Given the description of an element on the screen output the (x, y) to click on. 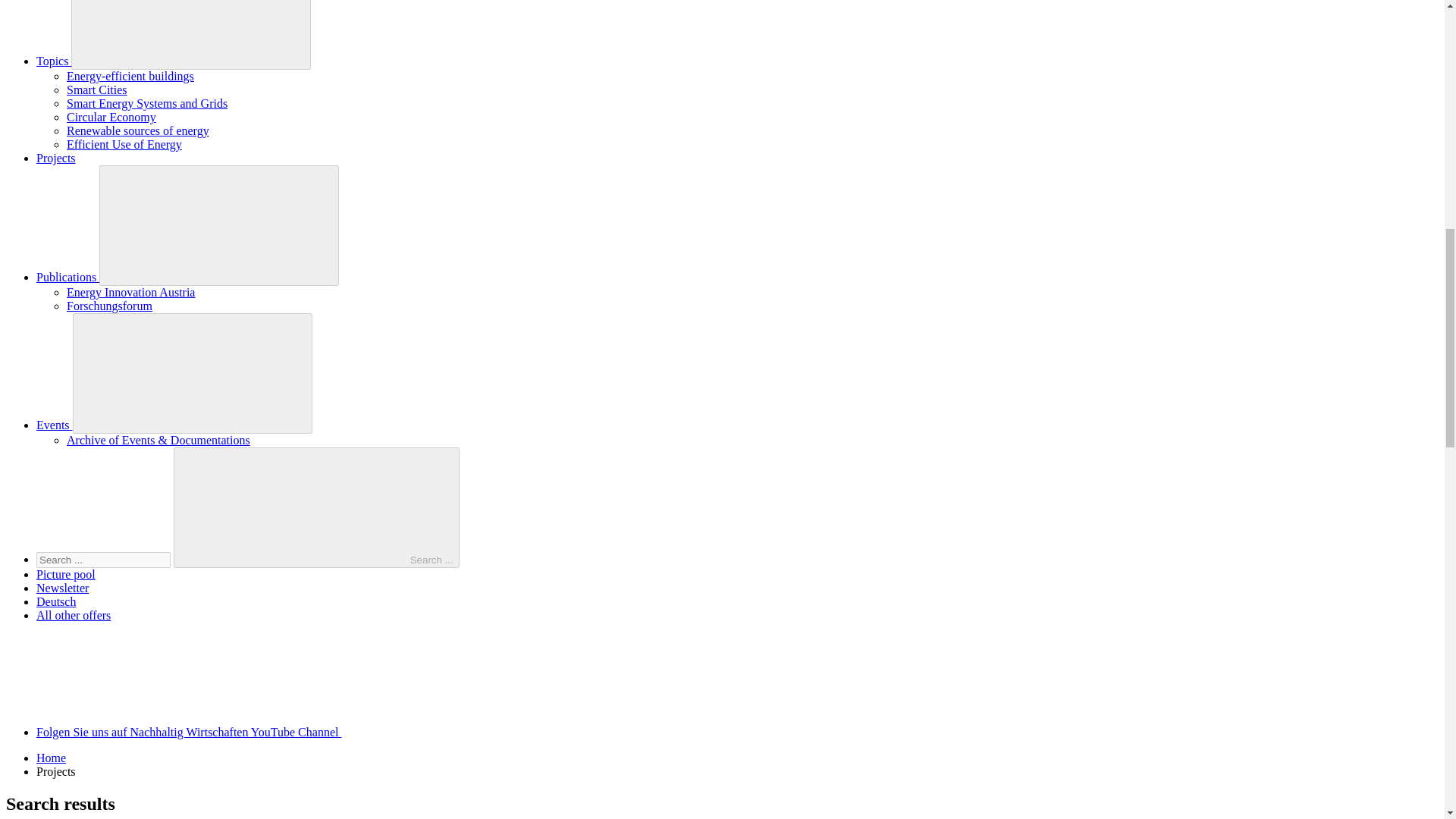
Smart Energy Systems and Grids (146, 103)
Energy-efficient buildings (129, 75)
Smart Cities (97, 89)
Nachhaltig Wirtschaften YouTube Channel (302, 731)
Circular Economy (110, 116)
Projects (55, 157)
Publications (67, 277)
Topics (53, 60)
Efficient Use of Energy (124, 144)
Renewable sources of energy (137, 130)
